Given the description of an element on the screen output the (x, y) to click on. 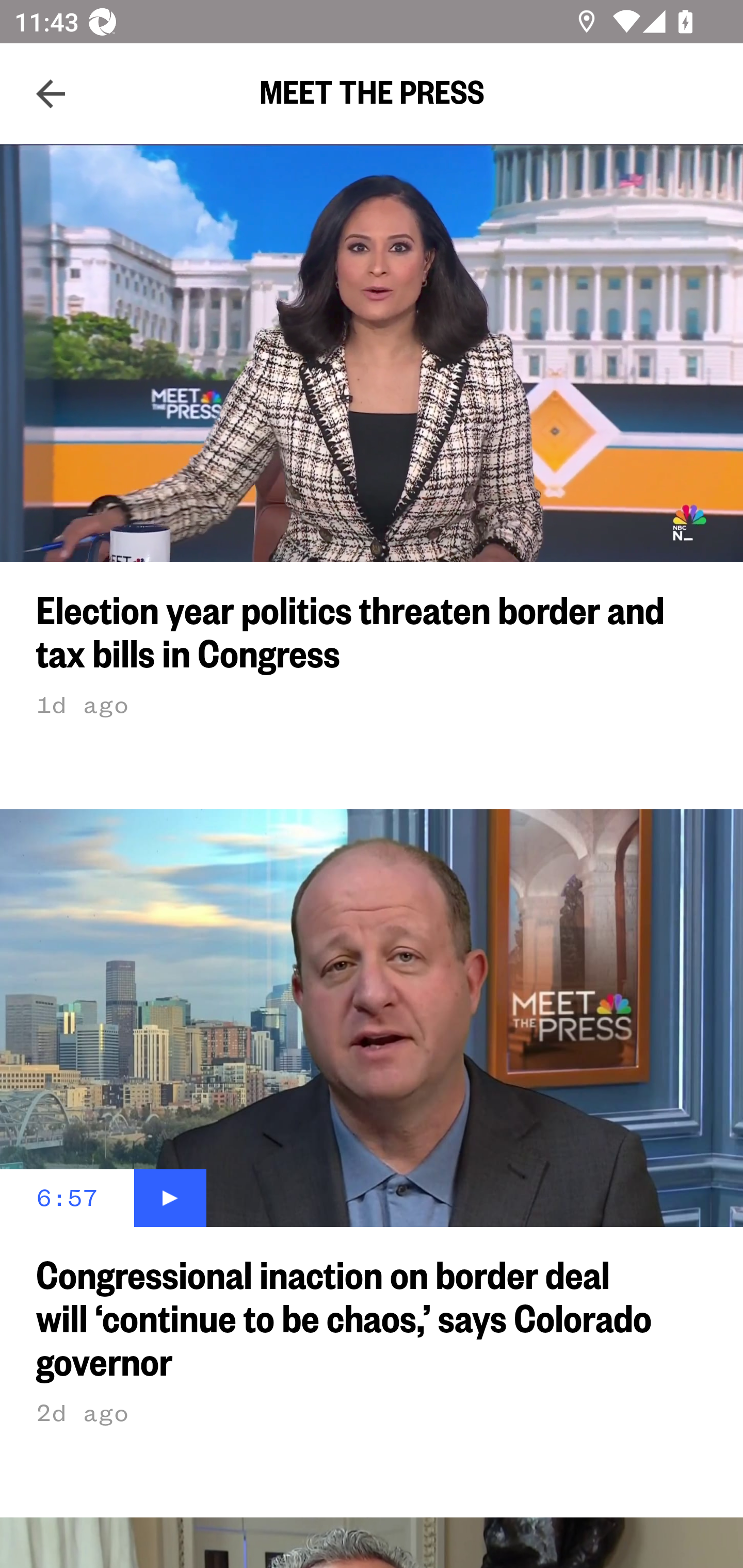
Navigate up (50, 93)
